Given the description of an element on the screen output the (x, y) to click on. 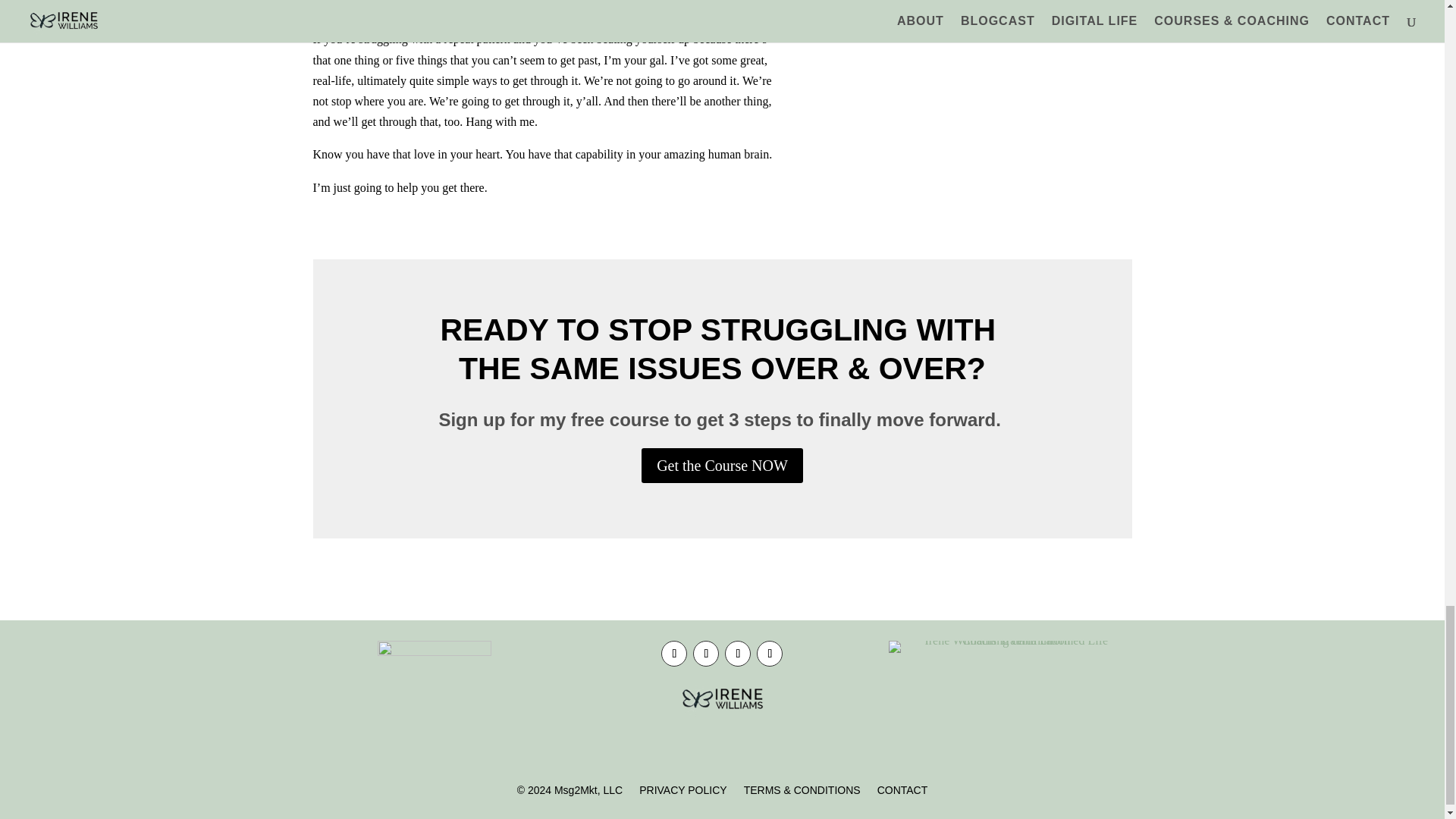
traumainformedcoachingBadge275 (1009, 646)
PRIVACY POLICY (682, 792)
Follow on X (706, 653)
irene dot com logo (722, 699)
Follow on Pinterest (770, 653)
Follow on Facebook (674, 653)
neuroscienceforcoachingBadge275 (434, 697)
CONTACT (902, 792)
Follow on Instagram (738, 653)
Get the Course NOW (722, 465)
